Given the description of an element on the screen output the (x, y) to click on. 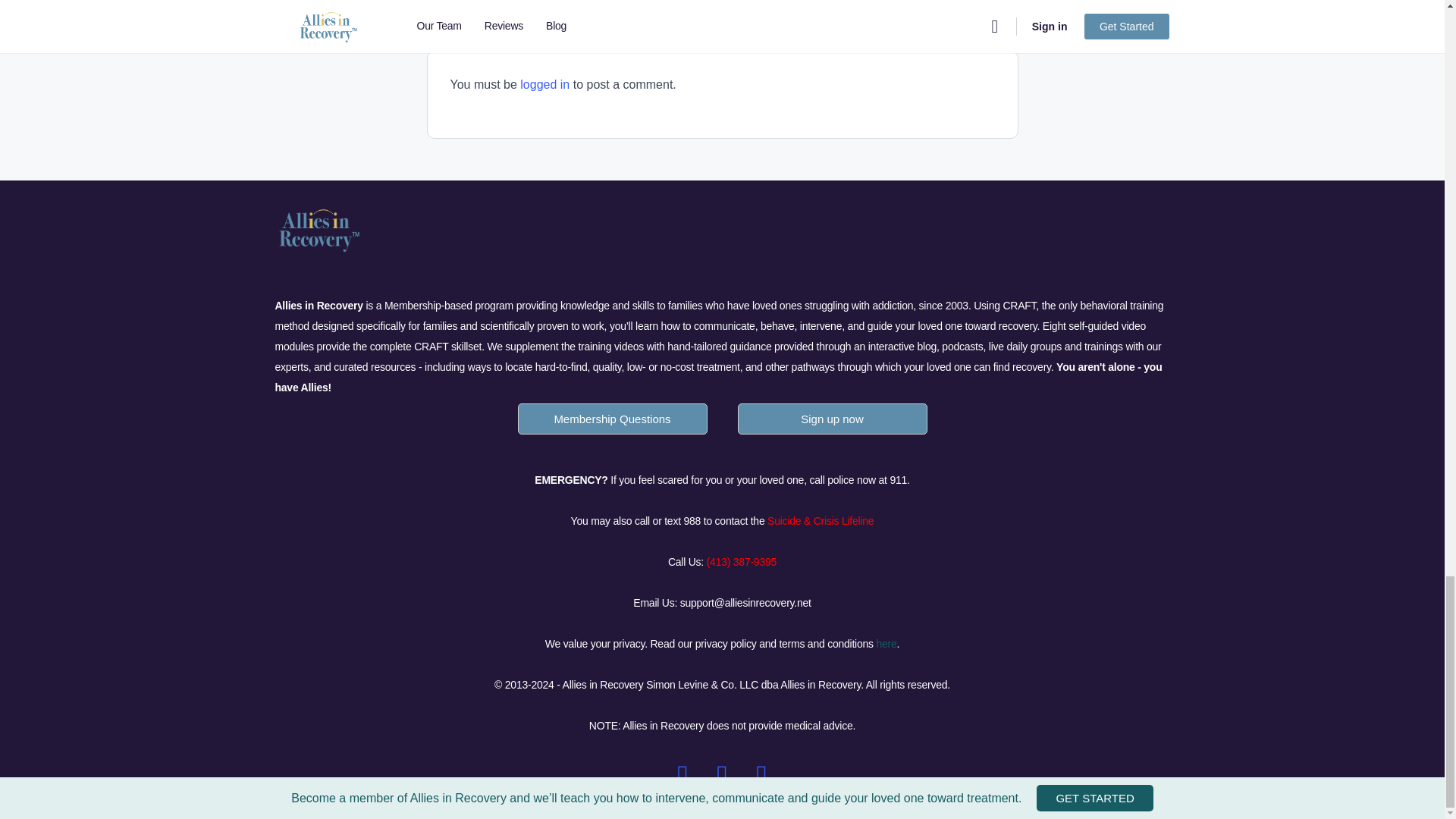
logged in (544, 83)
Membership Questions (611, 418)
Sign up now (832, 425)
Sign up now (831, 418)
Membership Questions (612, 425)
